Given the description of an element on the screen output the (x, y) to click on. 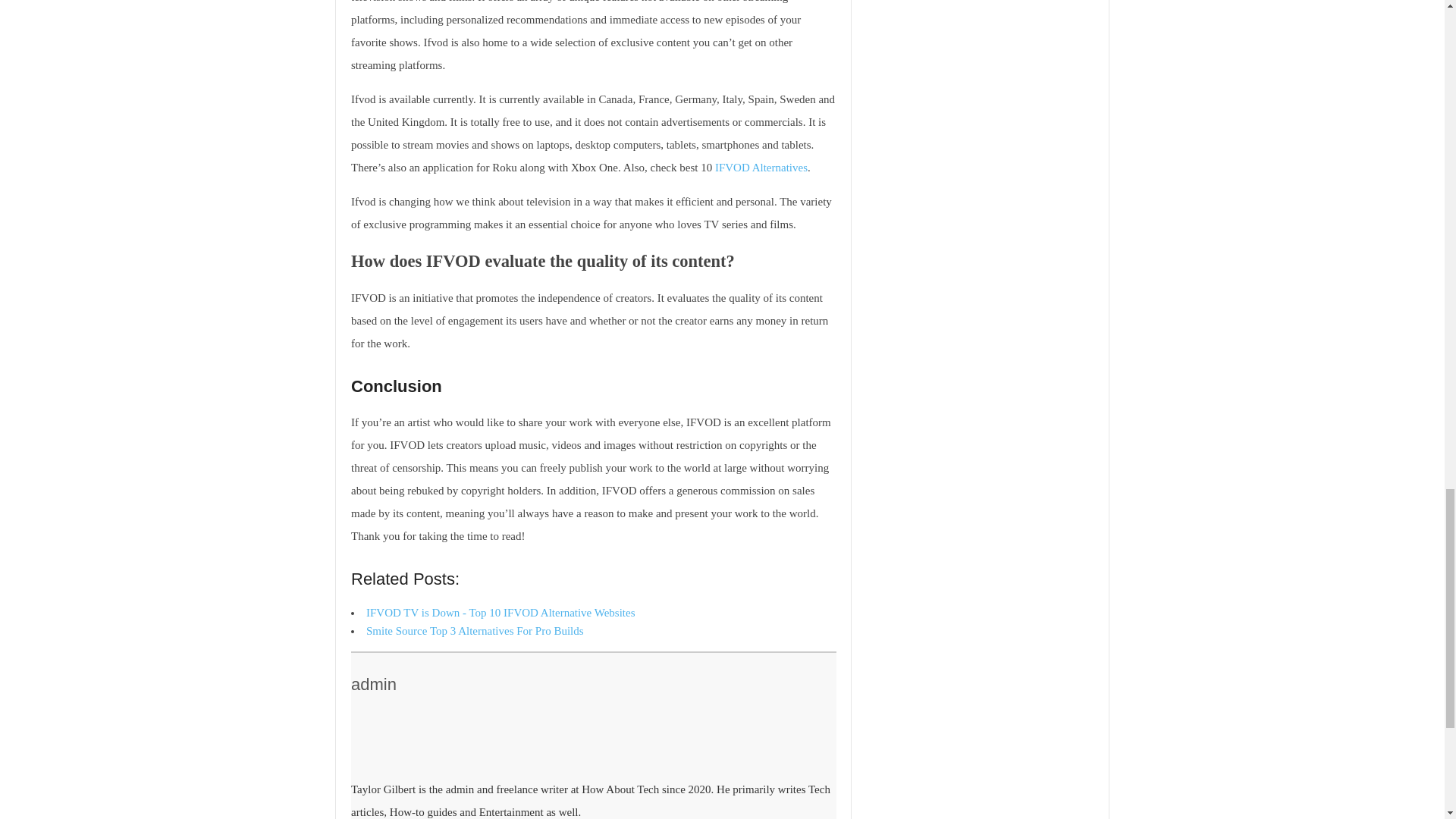
IFVOD TV is Down - Top 10 IFVOD Alternative Websites (500, 612)
admin (373, 683)
IFVOD Alternatives (761, 167)
Smite Source Top 3 Alternatives For Pro Builds (474, 630)
All posts by admin (373, 683)
